Given the description of an element on the screen output the (x, y) to click on. 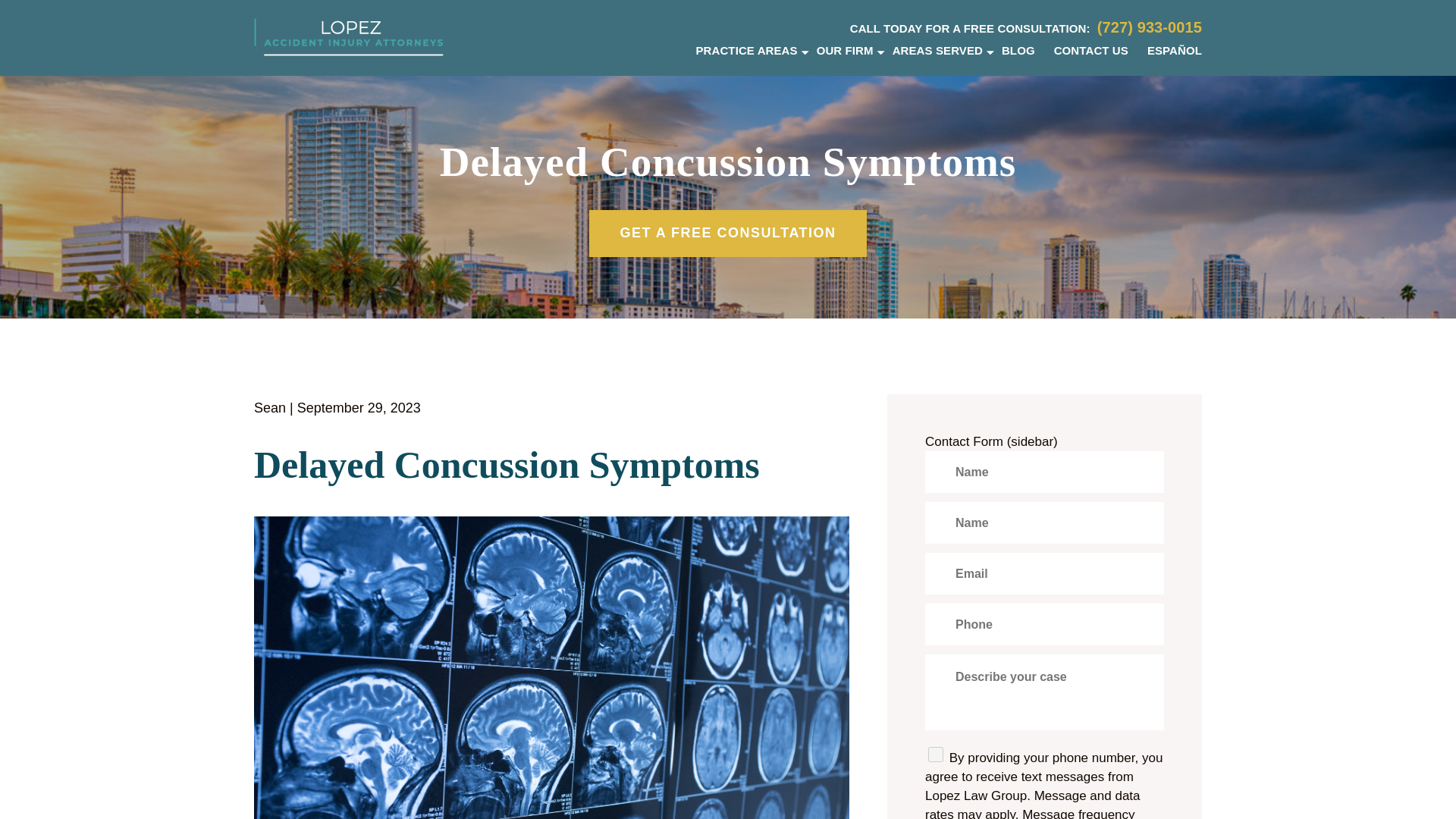
CONTACT US (1091, 50)
GET A FREE CONSULTATION (727, 233)
GET A FREE CONSULTATION (727, 233)
1 (935, 754)
Lopez-Accident-logo-white (348, 36)
Delayed Concussion Symptoms (550, 464)
AREAS SERVED (937, 50)
PRACTICE AREAS (745, 50)
OUR FIRM (844, 50)
